Given the description of an element on the screen output the (x, y) to click on. 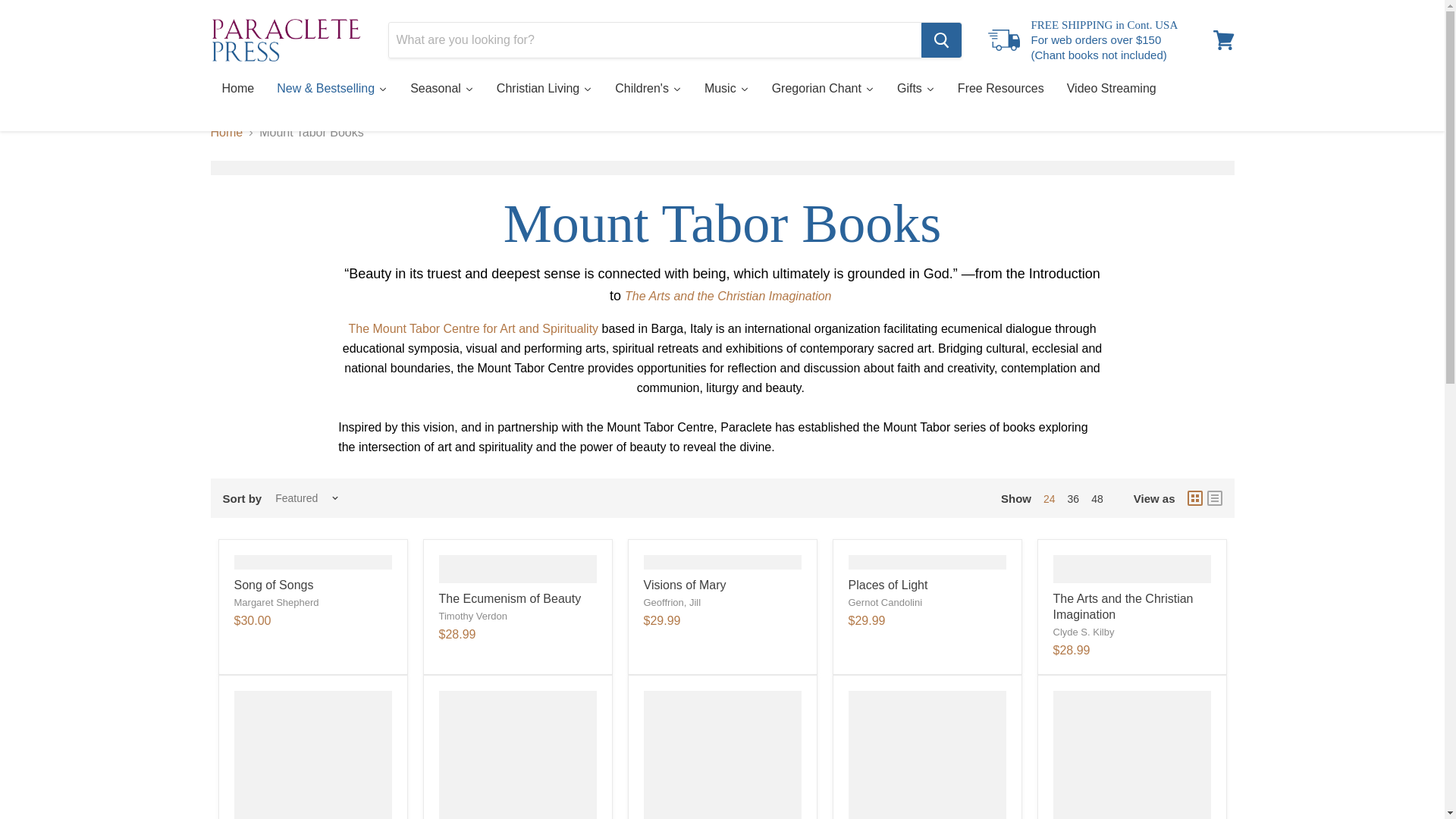
Gregorian Chant (822, 88)
Free Resources (1000, 88)
Music (726, 88)
Christian Living (544, 88)
View cart (1223, 39)
Video Streaming (1111, 88)
Seasonal (441, 88)
Gifts (915, 88)
Children's (648, 88)
Home (238, 88)
